Given the description of an element on the screen output the (x, y) to click on. 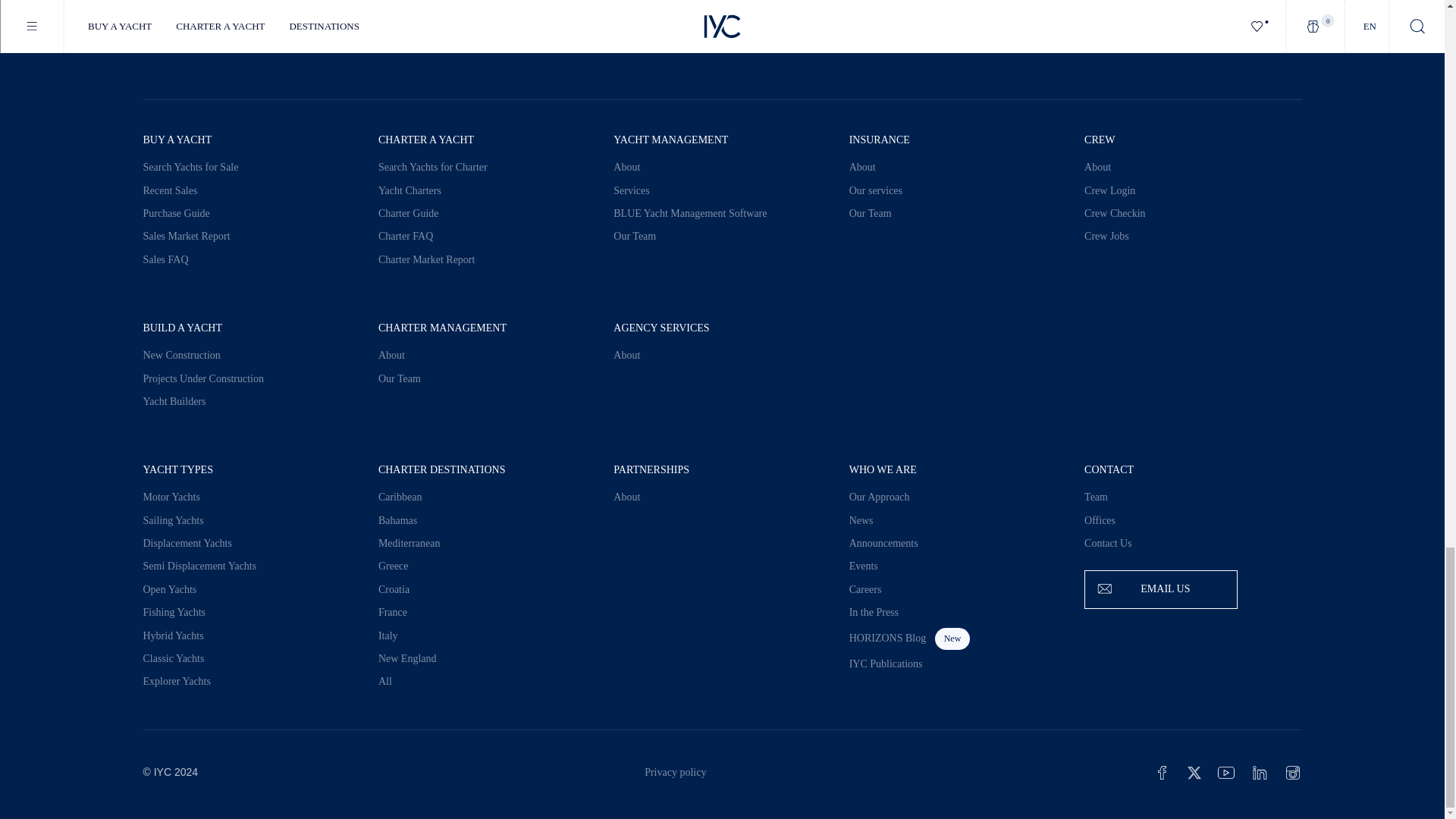
twitter (1193, 772)
youtube (1224, 772)
facebook (1161, 772)
instagram (1291, 772)
linkedin (1258, 772)
